Given the description of an element on the screen output the (x, y) to click on. 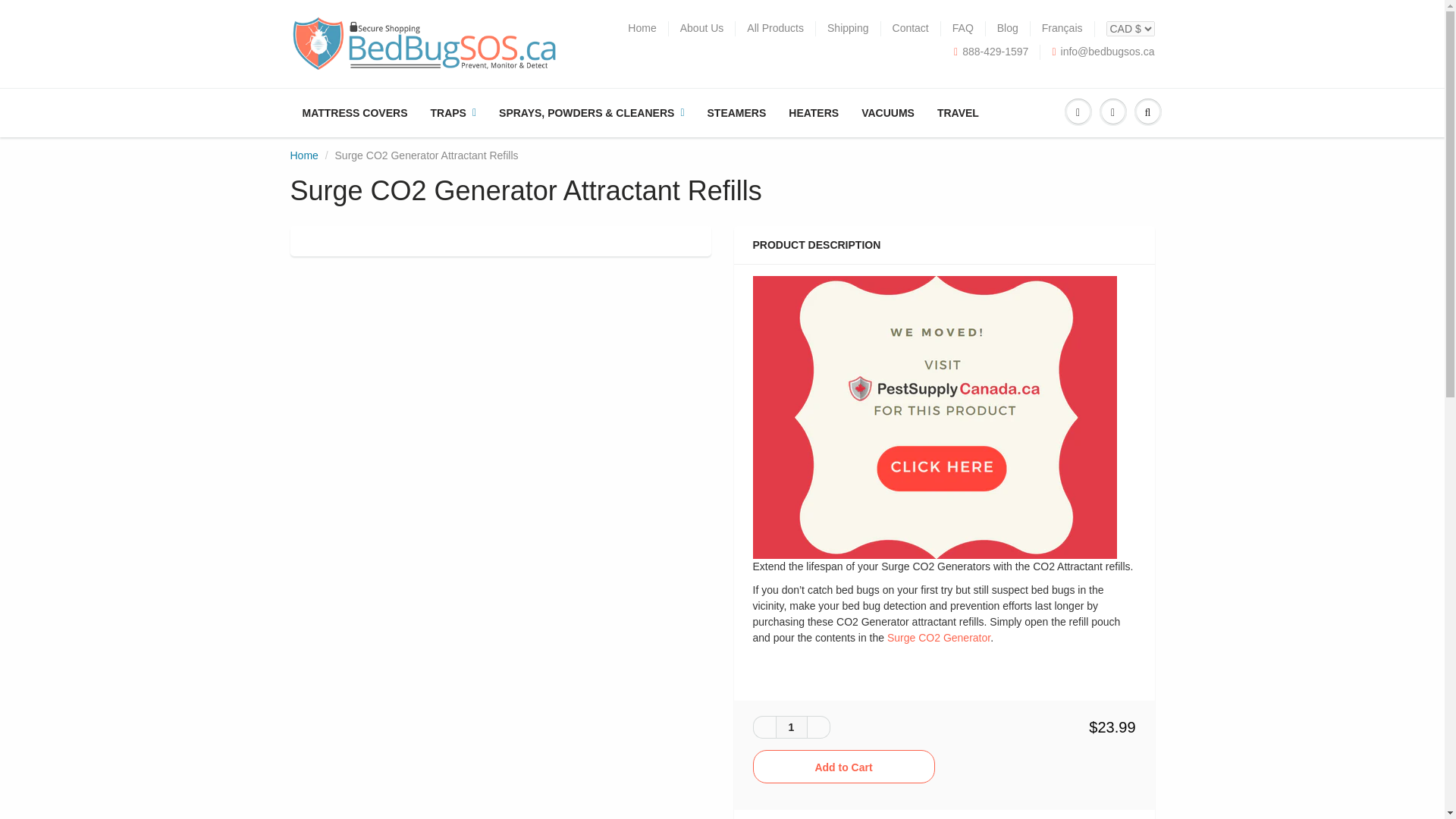
About Us (701, 28)
Blog (1007, 28)
Home (303, 155)
Contact (910, 28)
MATTRESS COVERS (355, 112)
VACUUMS (888, 112)
TRAVEL (958, 112)
FAQ (963, 28)
TRAPS (453, 112)
HEATERS (813, 112)
Surge CO2 generator (938, 637)
Add to Cart (843, 766)
All Products (774, 28)
1 (790, 726)
Shipping (848, 28)
